Given the description of an element on the screen output the (x, y) to click on. 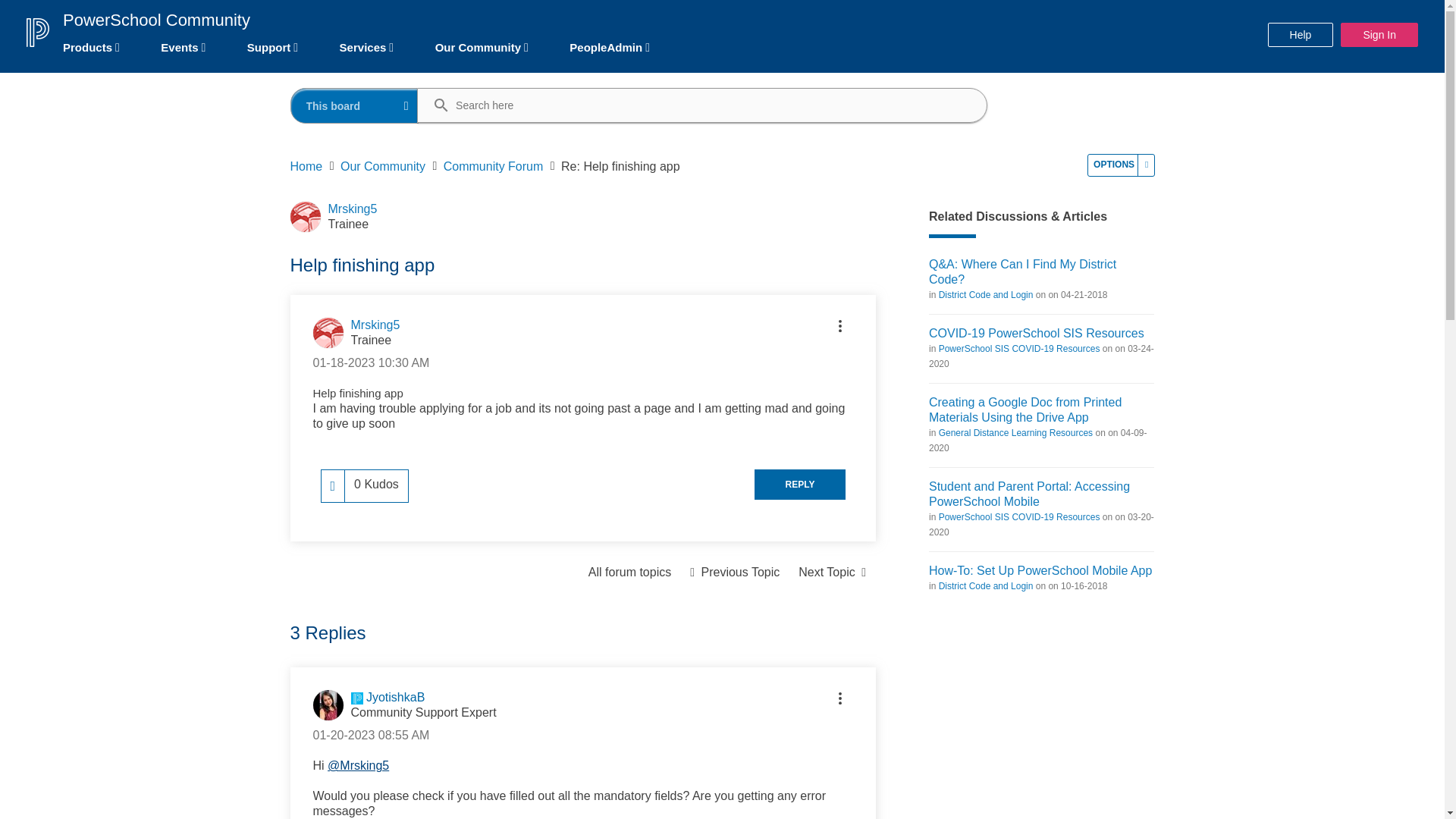
Show option menu (1120, 164)
Show option menu (840, 325)
Search (433, 106)
Mrsking5 (304, 216)
Search (695, 104)
Posted on (371, 363)
Mrsking5 (327, 332)
Search Granularity (354, 105)
Search (433, 106)
